Given the description of an element on the screen output the (x, y) to click on. 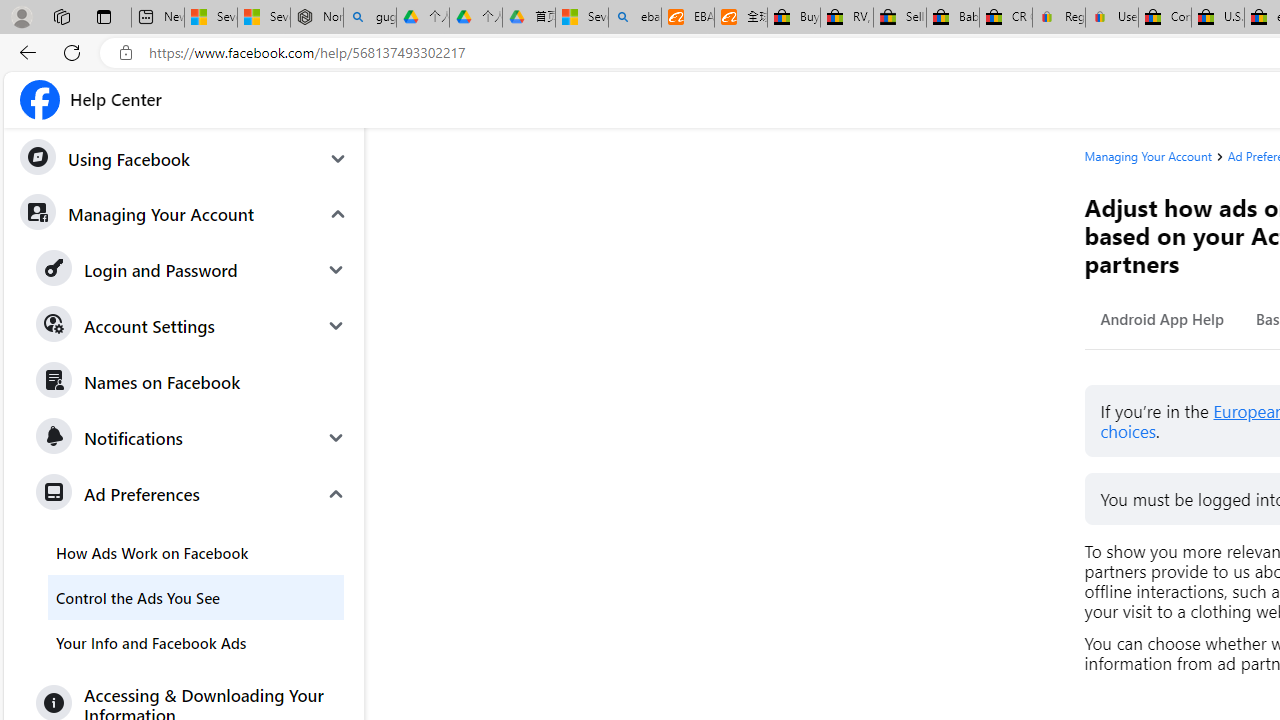
Android App Help (1162, 318)
Register: Create a personal eBay account (1059, 17)
Managing Your Account (1148, 156)
Control the Ads You See (196, 596)
Facebook Help Center (91, 99)
Names on Facebook (191, 381)
Managing Your Account (1155, 156)
